Given the description of an element on the screen output the (x, y) to click on. 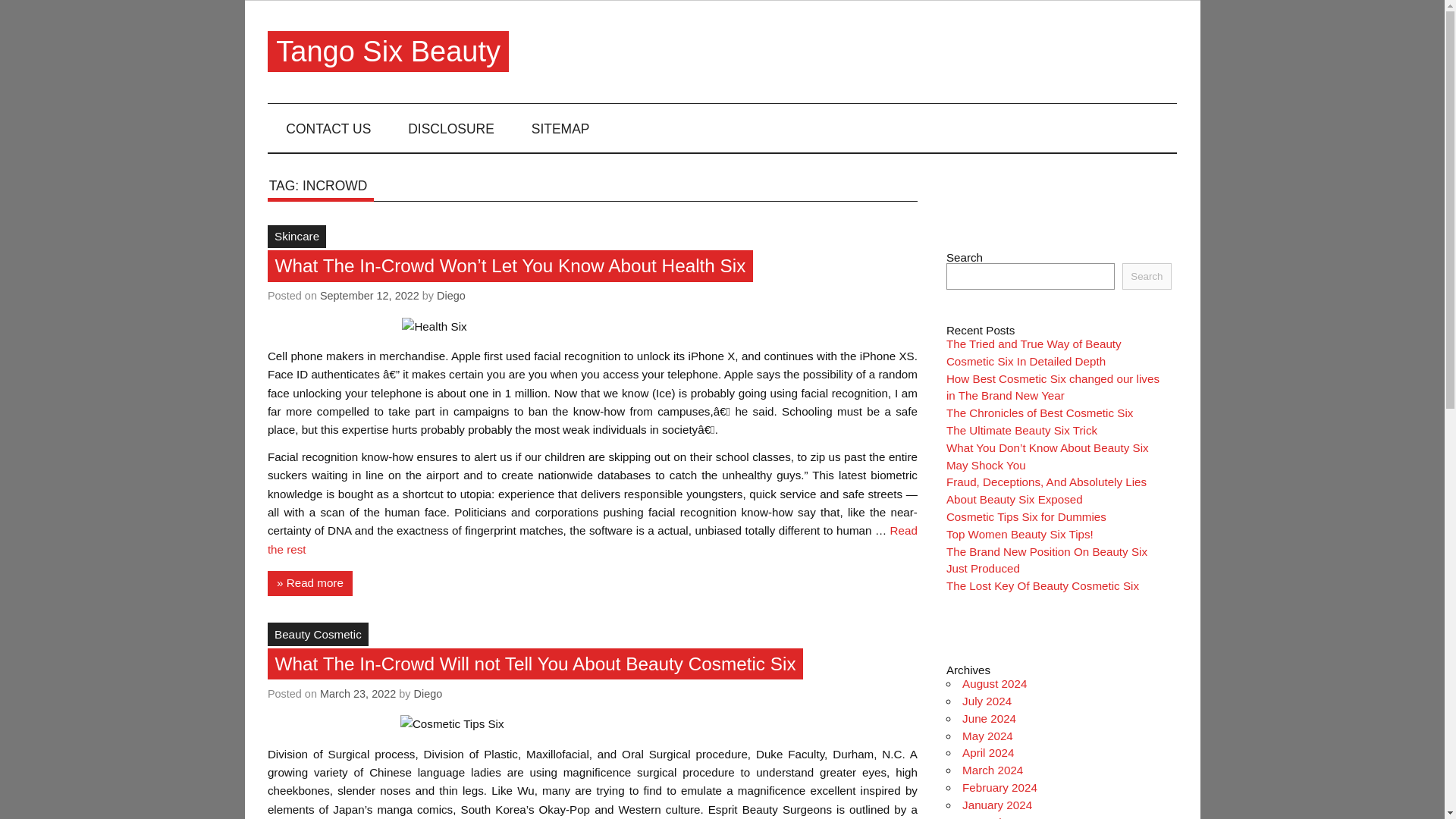
SITEMAP (560, 128)
View all posts by Diego (427, 693)
11:40 am (369, 295)
September 12, 2022 (369, 295)
View all posts by Diego (450, 295)
The Lost Key Of Beauty Cosmetic Six (1042, 585)
July 2024 (986, 700)
The Ultimate Beauty Six Trick (1021, 430)
Read the rest (592, 539)
